Given the description of an element on the screen output the (x, y) to click on. 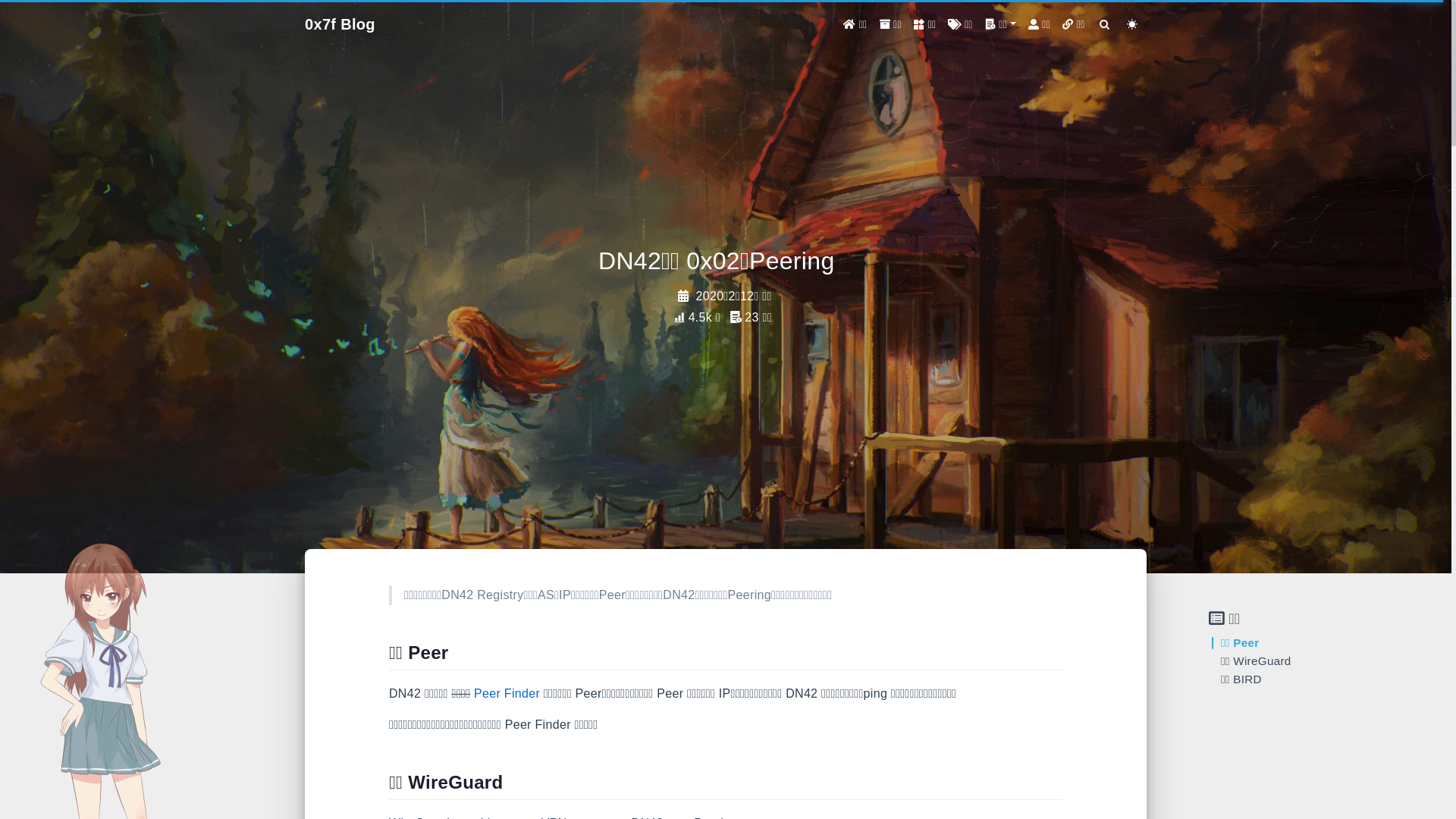
Peer Finder Element type: text (506, 693)
0x7f Blog Element type: text (339, 24)
